Given the description of an element on the screen output the (x, y) to click on. 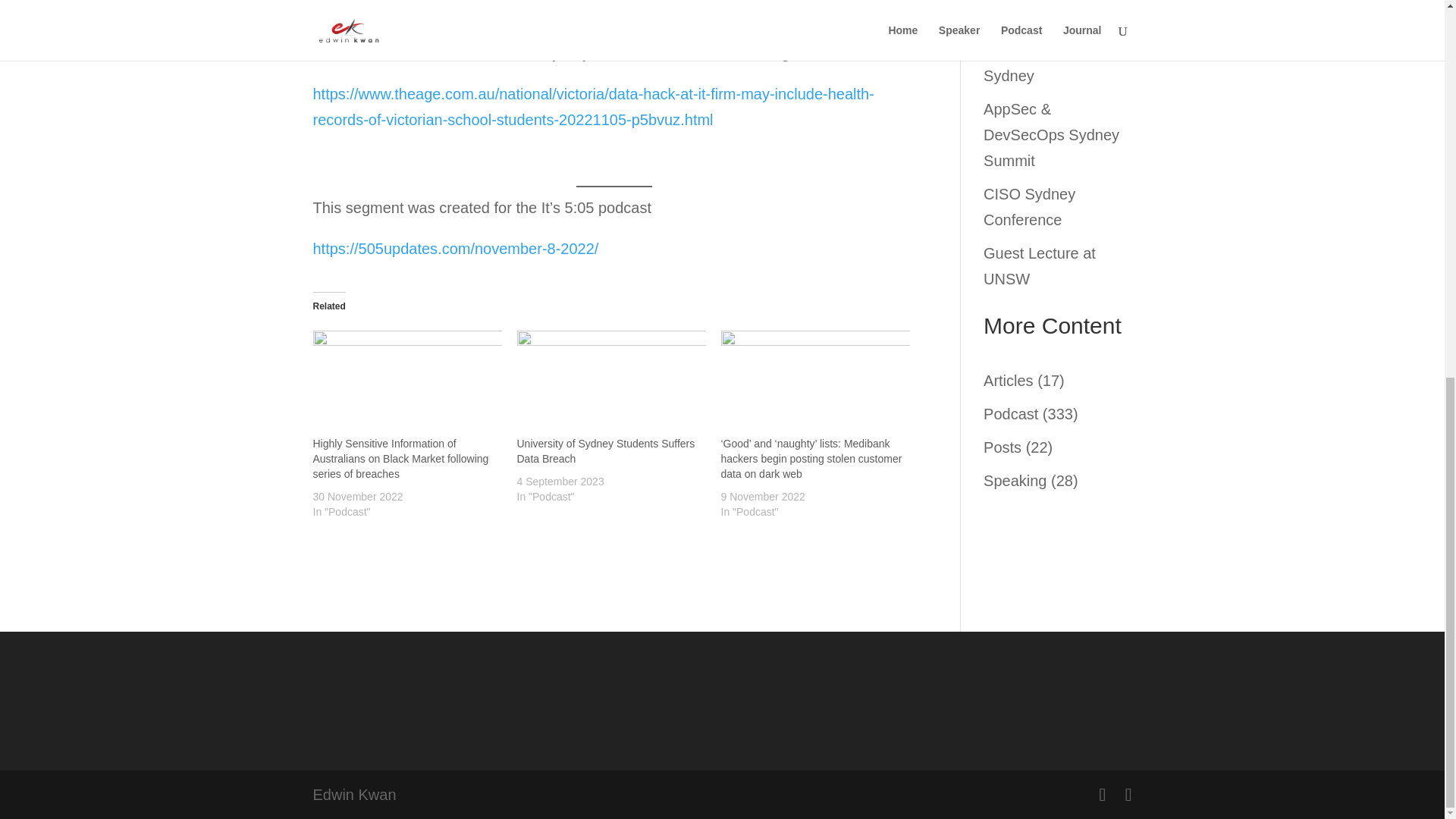
Speaking (1015, 480)
Speaker at AISA SydneySEC (1039, 12)
Podcast (1011, 413)
Modern DevOps Sydney (1039, 62)
University of Sydney Students Suffers Data Breach (605, 451)
University of Sydney Students Suffers Data Breach (605, 451)
University of Sydney Students Suffers Data Breach (611, 380)
Posts (1003, 446)
Guest Lecture at UNSW (1040, 265)
CISO Sydney Conference (1029, 206)
Articles (1008, 380)
